Given the description of an element on the screen output the (x, y) to click on. 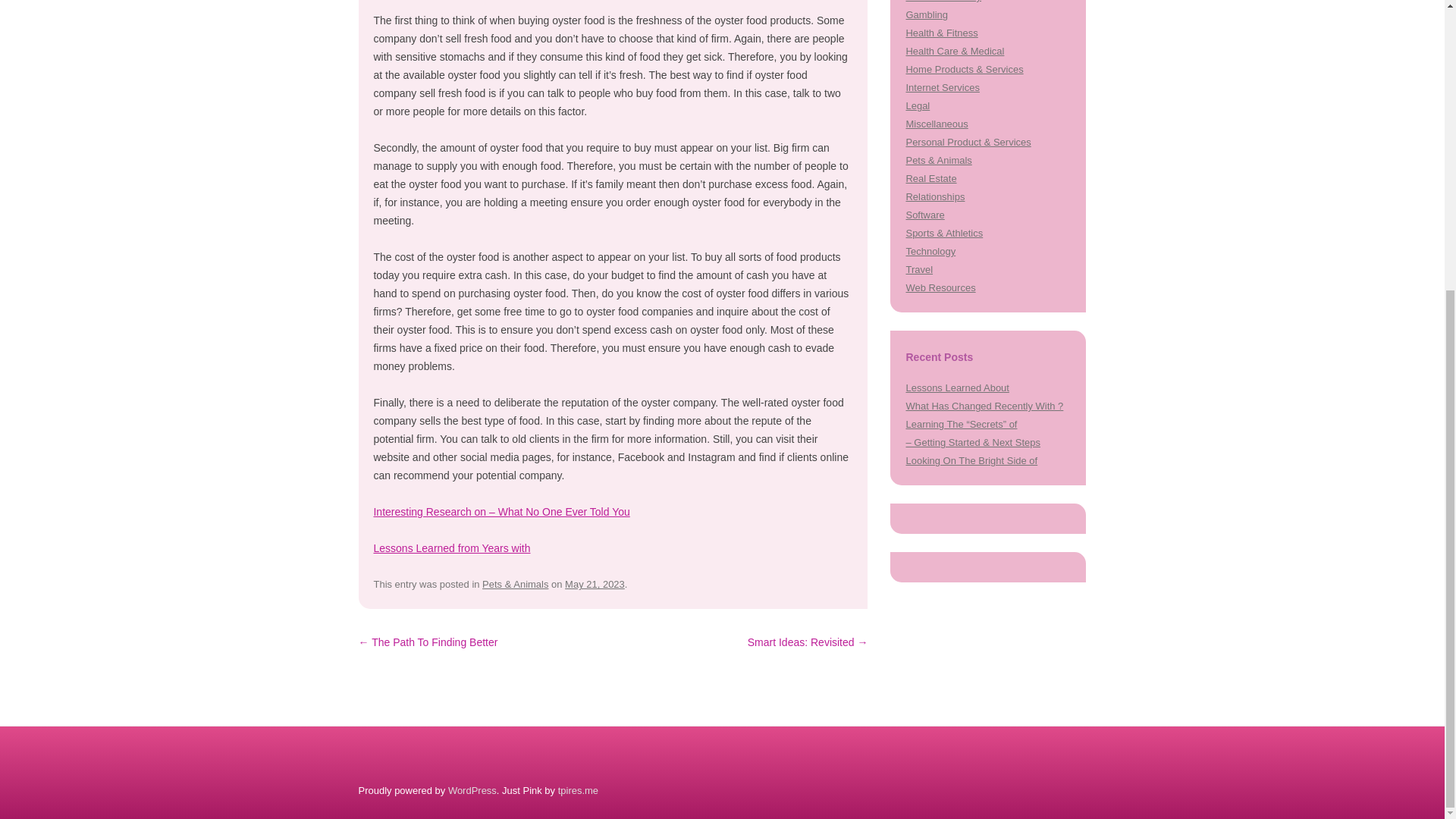
What Has Changed Recently With ? (983, 405)
Internet Services (941, 87)
Technology (930, 251)
Lessons Learned from Years with (450, 548)
Gambling (926, 14)
Semantic Personal Publishing Platform (472, 790)
Miscellaneous (936, 123)
6:18 pm (594, 583)
Web Resources (940, 287)
Relationships (934, 196)
